Given the description of an element on the screen output the (x, y) to click on. 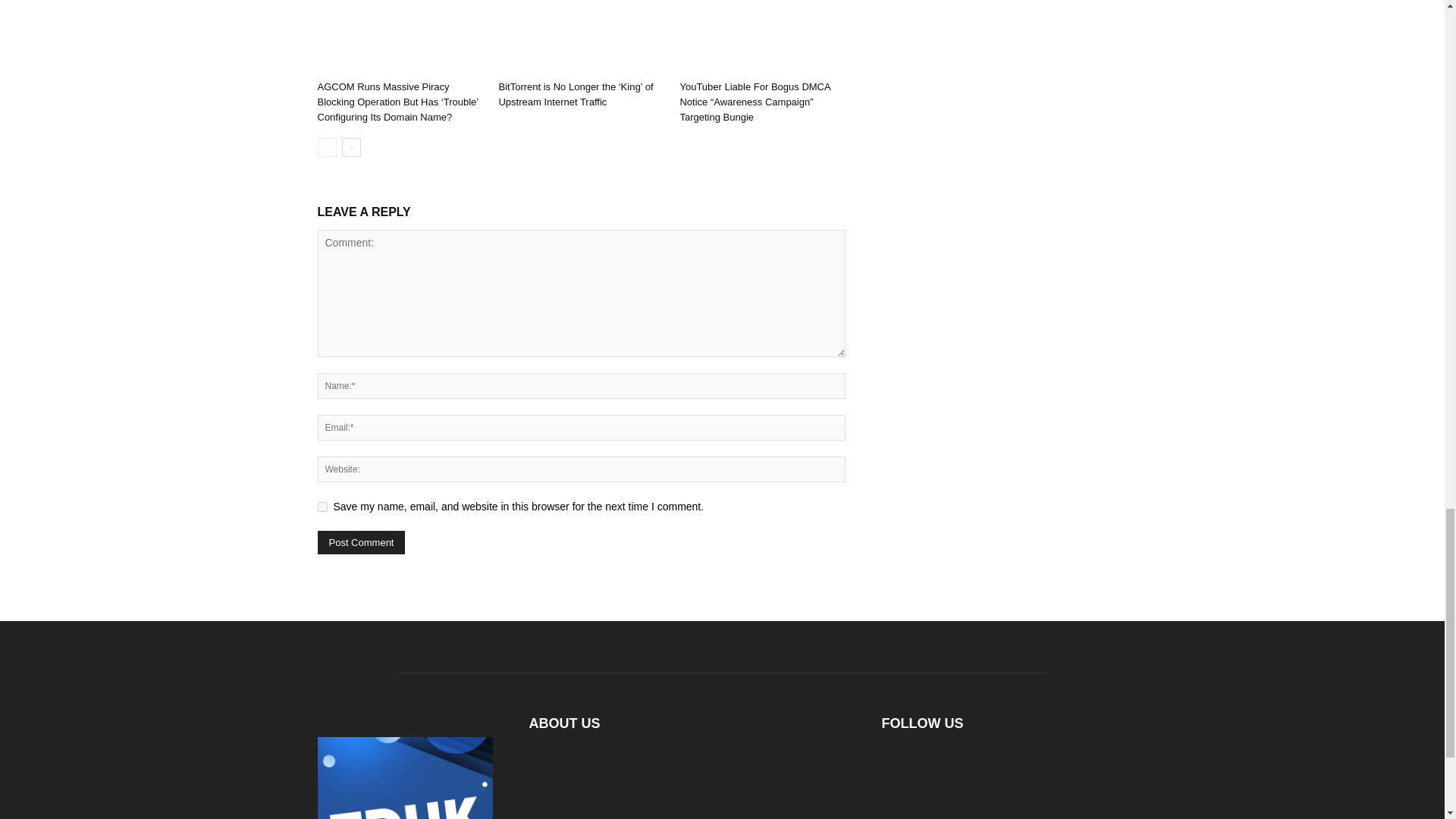
Post Comment (360, 542)
yes (321, 506)
